Given the description of an element on the screen output the (x, y) to click on. 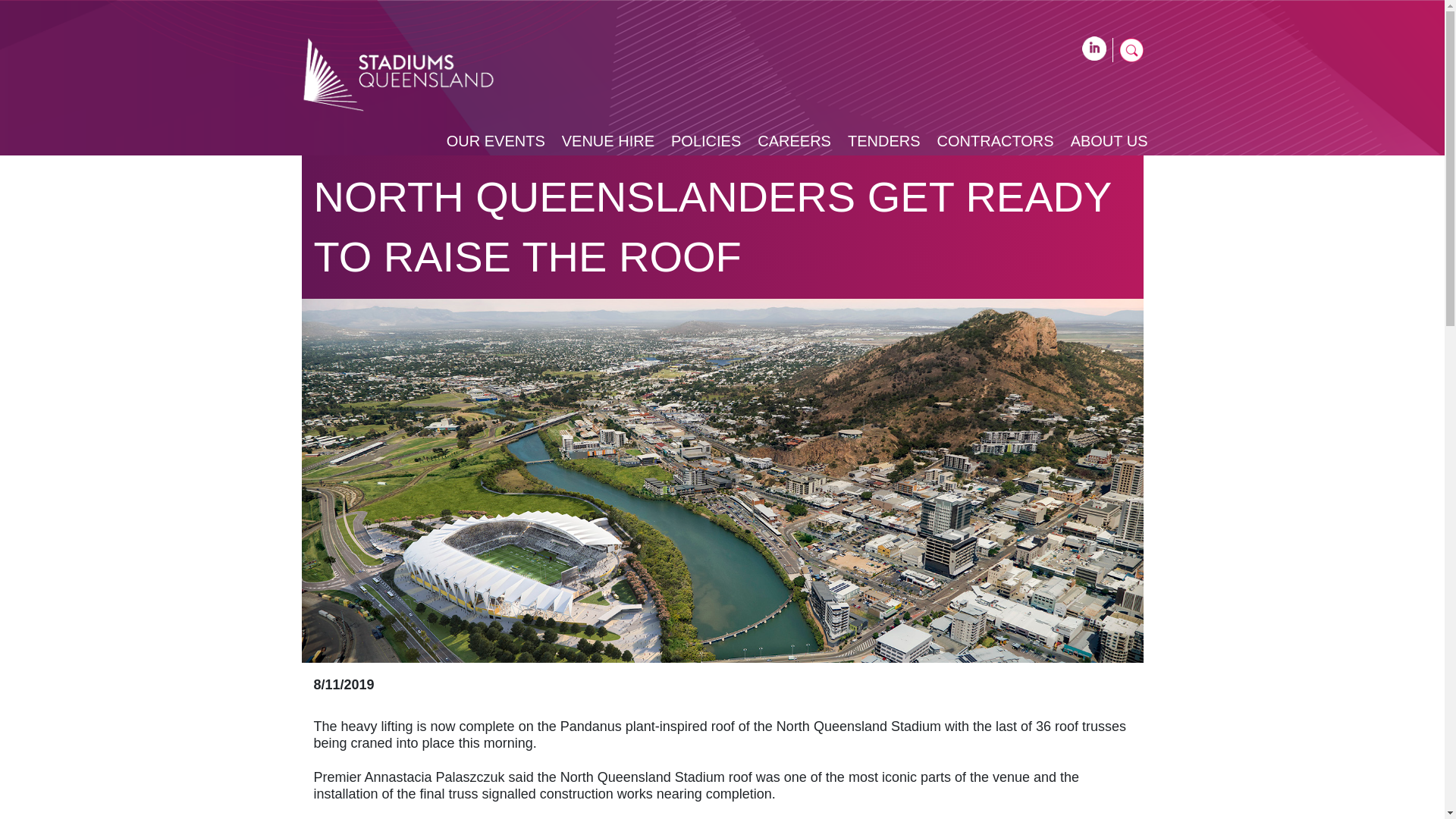
OUR EVENTS (495, 140)
CAREERS (794, 140)
VENUE HIRE (607, 140)
TENDERS (883, 140)
ABOUT US (1109, 140)
POLICIES (706, 140)
GO! (1121, 80)
CONTRACTORS (995, 140)
